Given the description of an element on the screen output the (x, y) to click on. 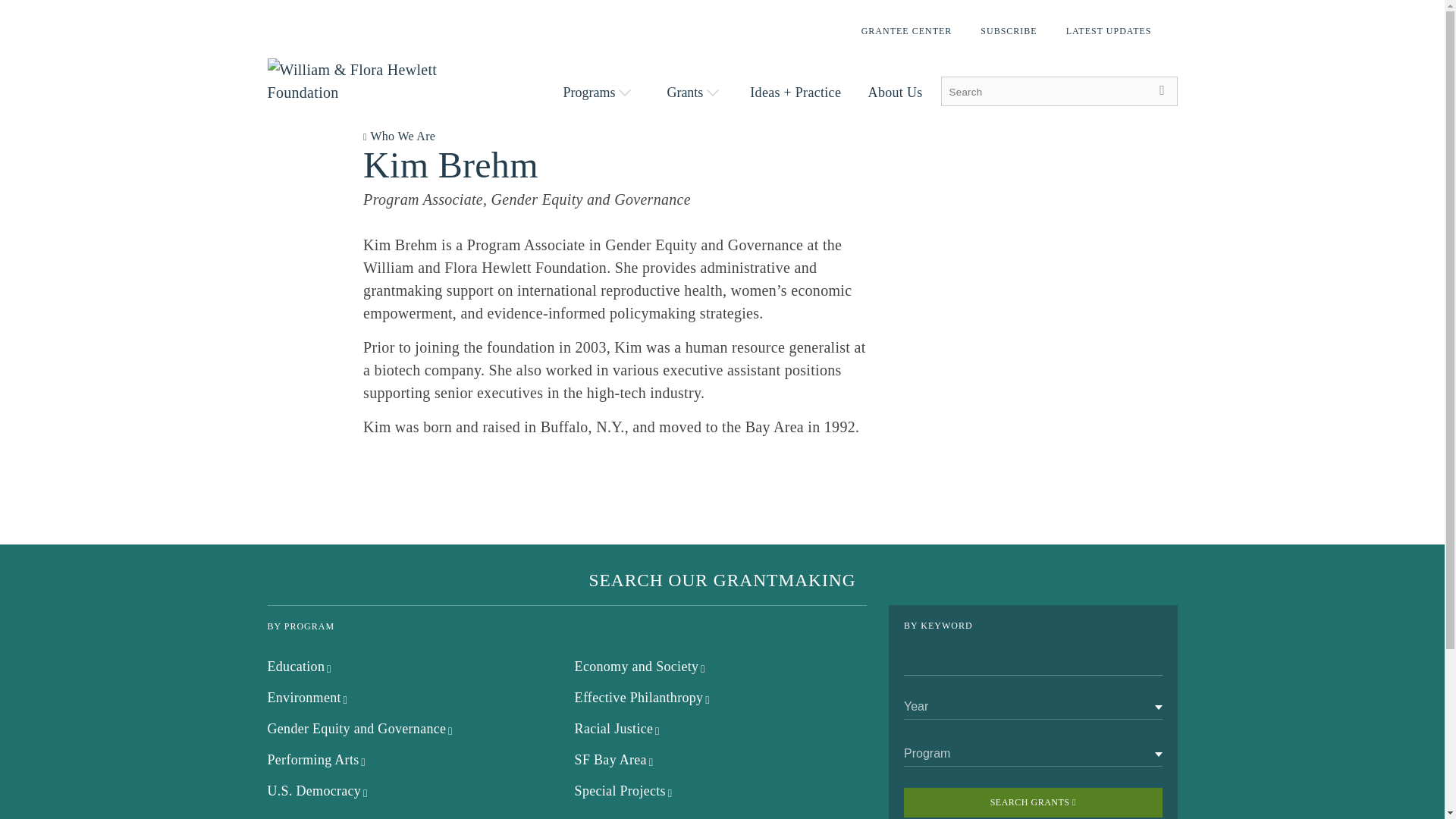
SUBSCRIBE (1007, 30)
GRANTEE CENTER (907, 30)
Grants (692, 90)
About Us (895, 92)
Programs (595, 90)
LATEST UPDATES (1108, 30)
Search (1161, 90)
